Given the description of an element on the screen output the (x, y) to click on. 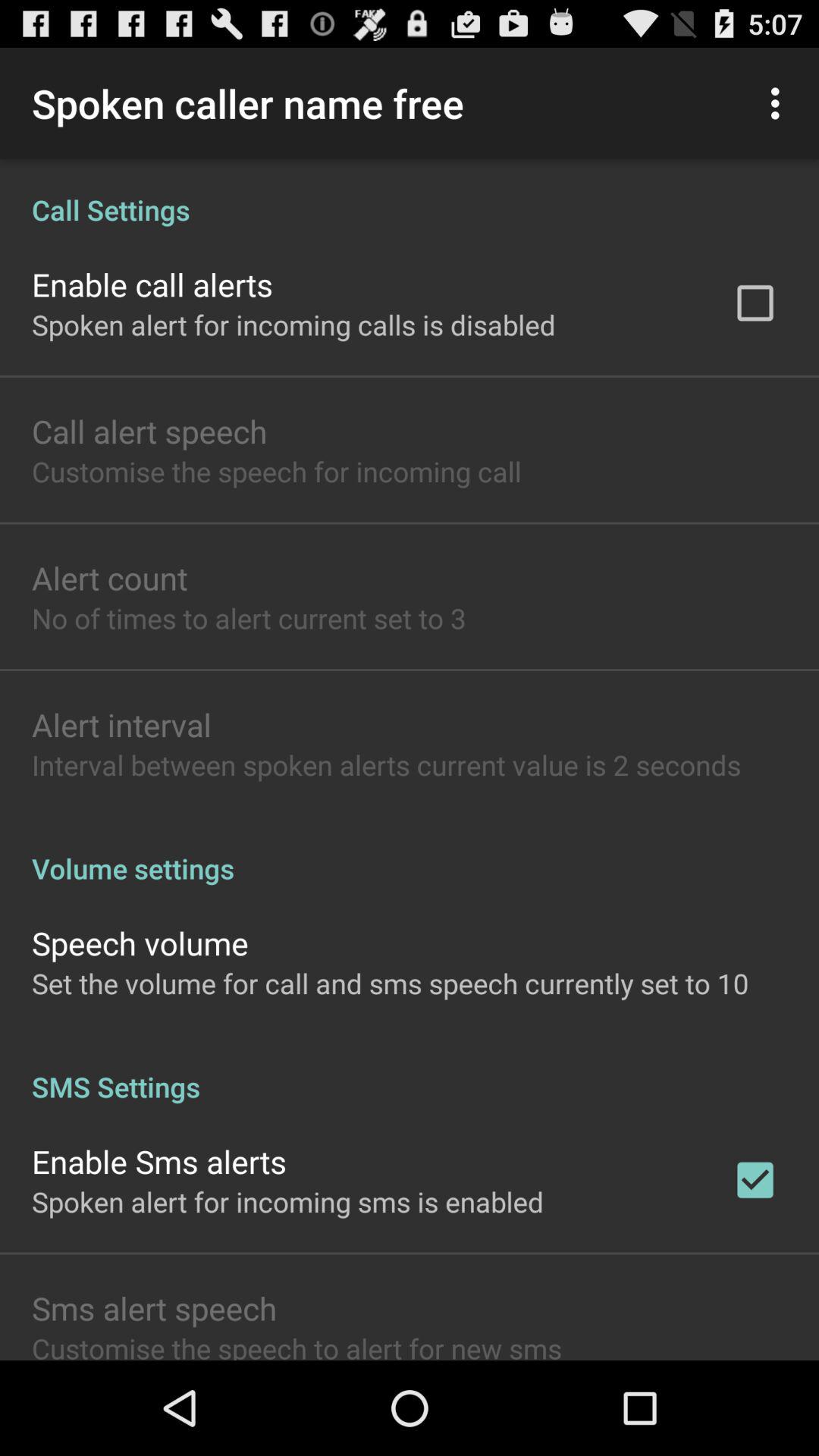
launch the item below the no of times icon (121, 724)
